Given the description of an element on the screen output the (x, y) to click on. 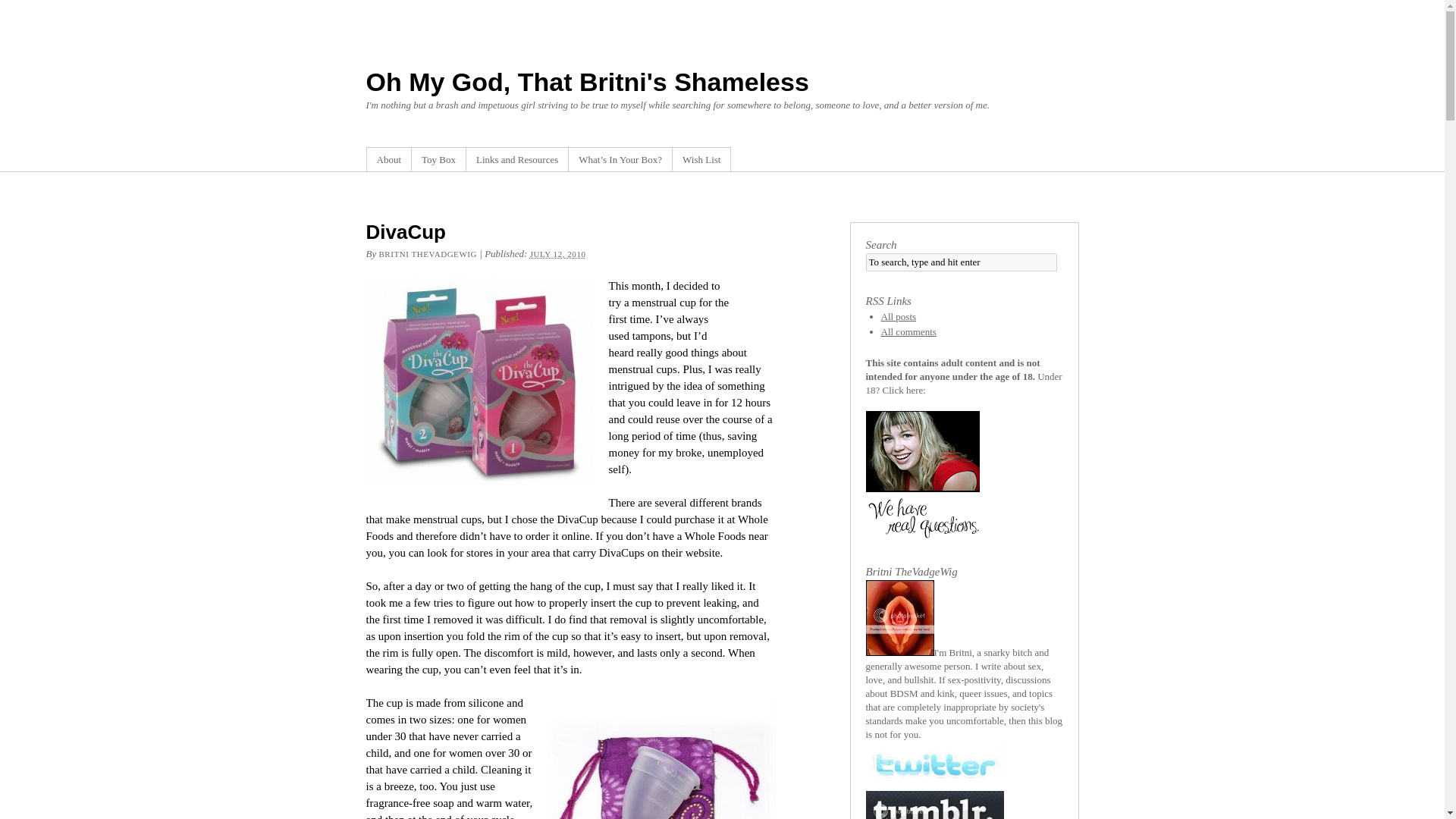
Links and Resources (516, 159)
Toy Box (437, 159)
Oh My God, That Britni's Shameless (586, 81)
divacup1 (478, 381)
Toy Box (437, 159)
Wish List (700, 159)
About (387, 159)
diva-cup (660, 756)
View all posts by Britni TheVadgeWig (427, 253)
About (387, 159)
Wish List (700, 159)
Links and Resources (516, 159)
To search, type and hit enter (961, 262)
Oh My God, That Britni's Shameless (586, 81)
BRITNI THEVADGEWIG (427, 253)
